Given the description of an element on the screen output the (x, y) to click on. 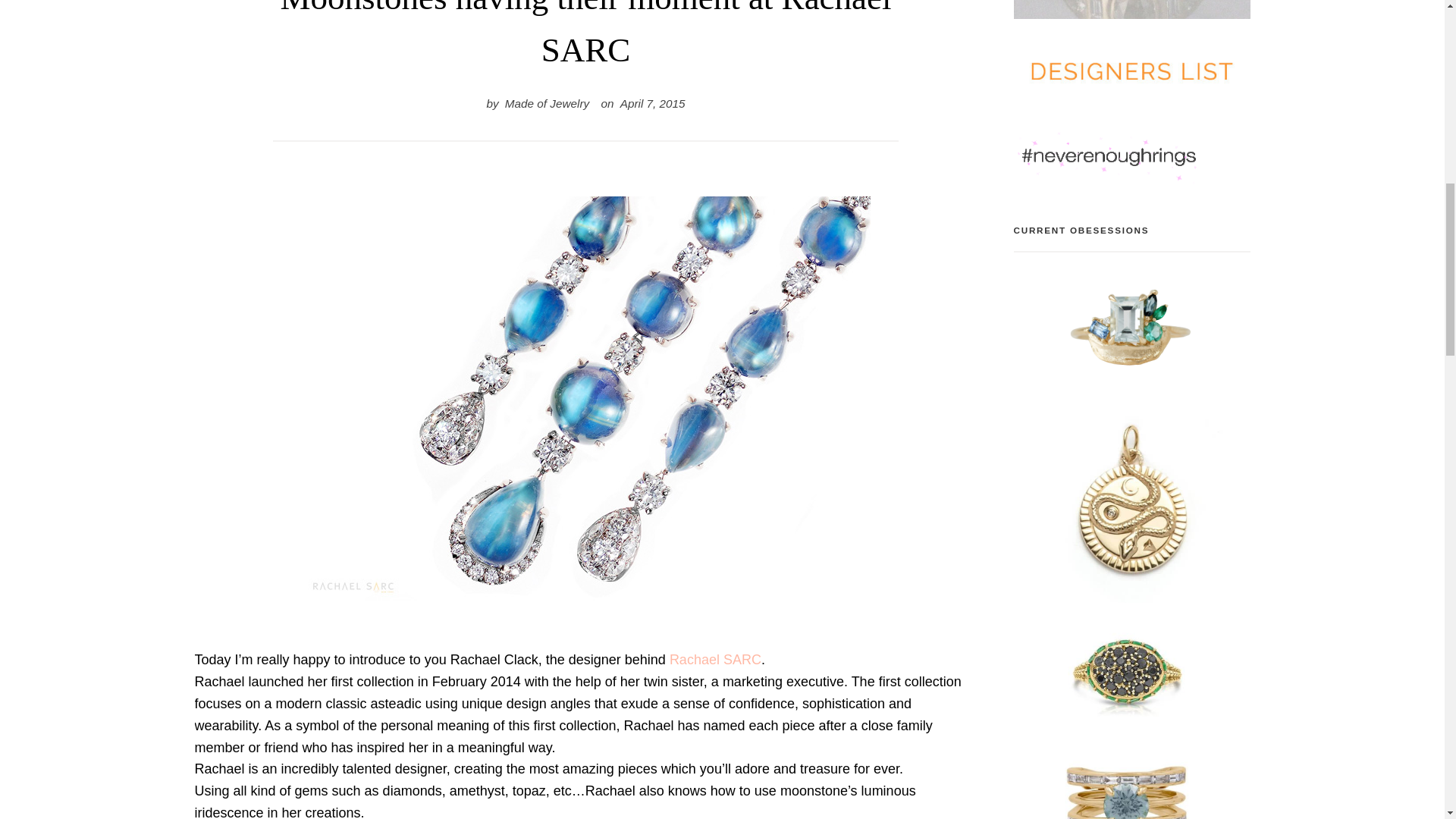
Made of Jewelry (547, 103)
April 7, 2015 (652, 103)
Rachael SARC (715, 659)
